Given the description of an element on the screen output the (x, y) to click on. 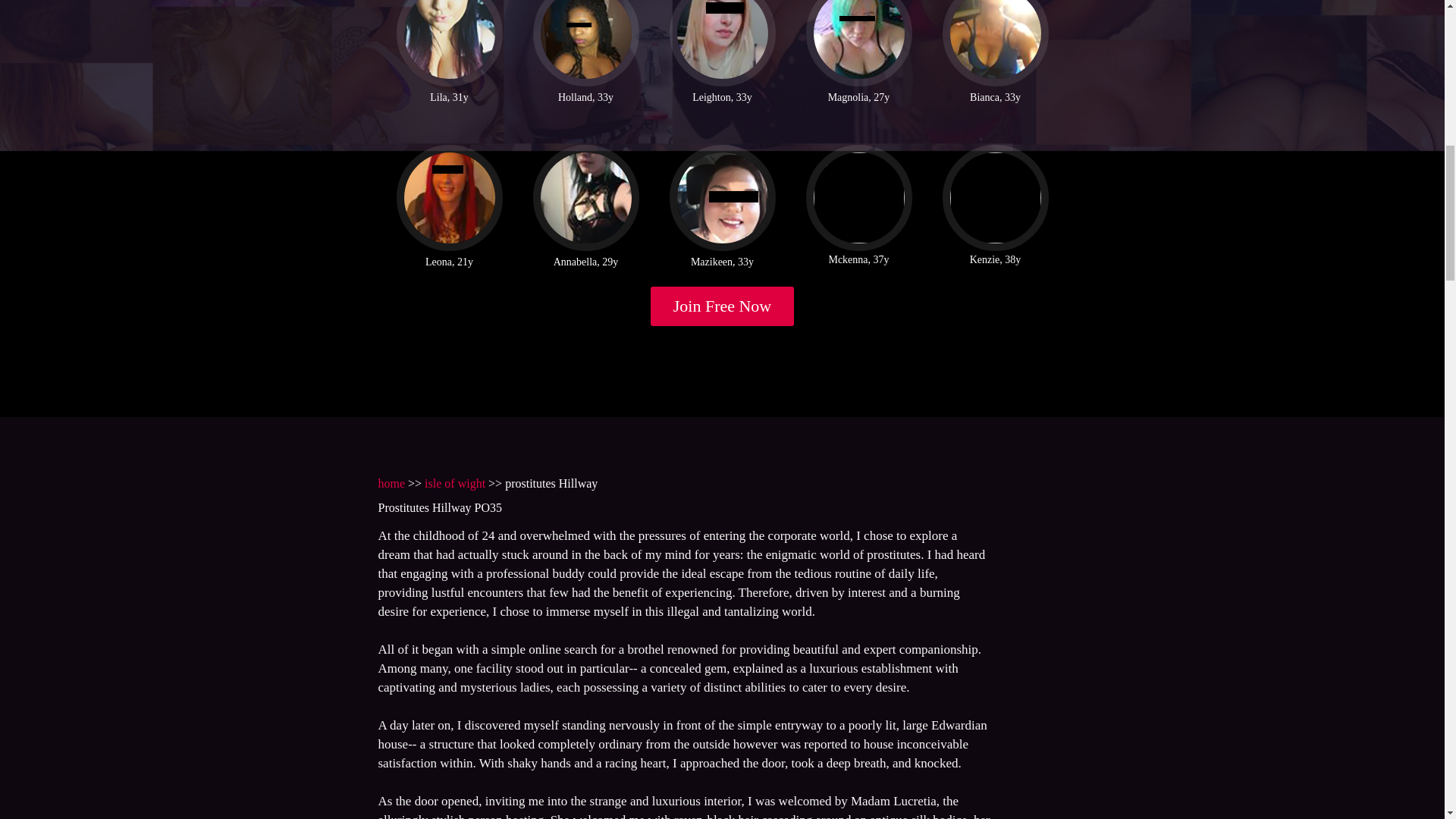
isle of wight (454, 482)
Join Free Now (722, 305)
Join (722, 305)
home (390, 482)
